Given the description of an element on the screen output the (x, y) to click on. 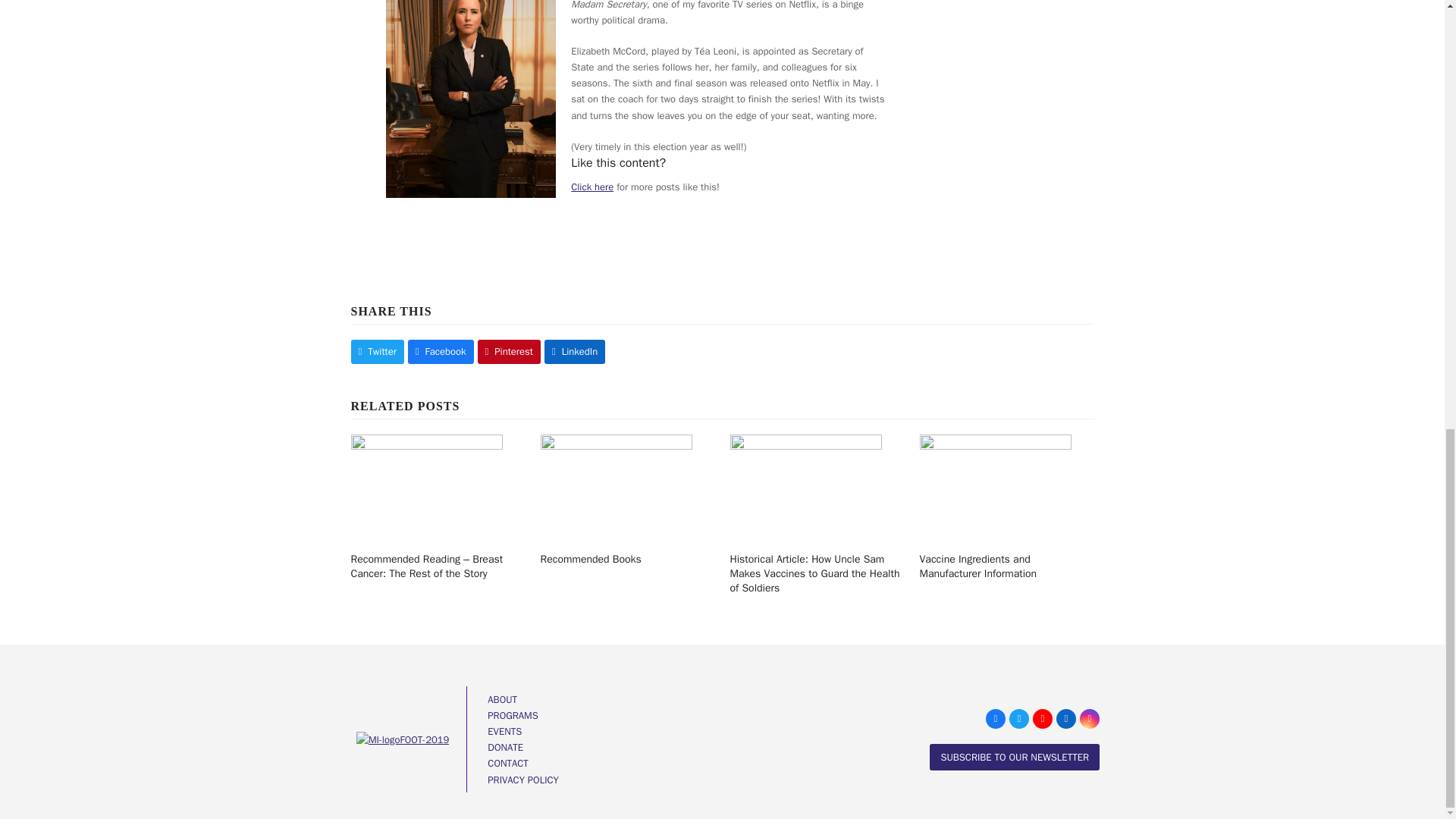
MI-logoFOOT-2019 (402, 739)
Instagram (1089, 718)
Facebook (995, 718)
Recommended Books (615, 486)
Click here (591, 186)
Twitter (1019, 718)
Vaccine Ingredients and Manufacturer Information (994, 486)
LinkedIn (1066, 718)
Youtube (1042, 718)
